Given the description of an element on the screen output the (x, y) to click on. 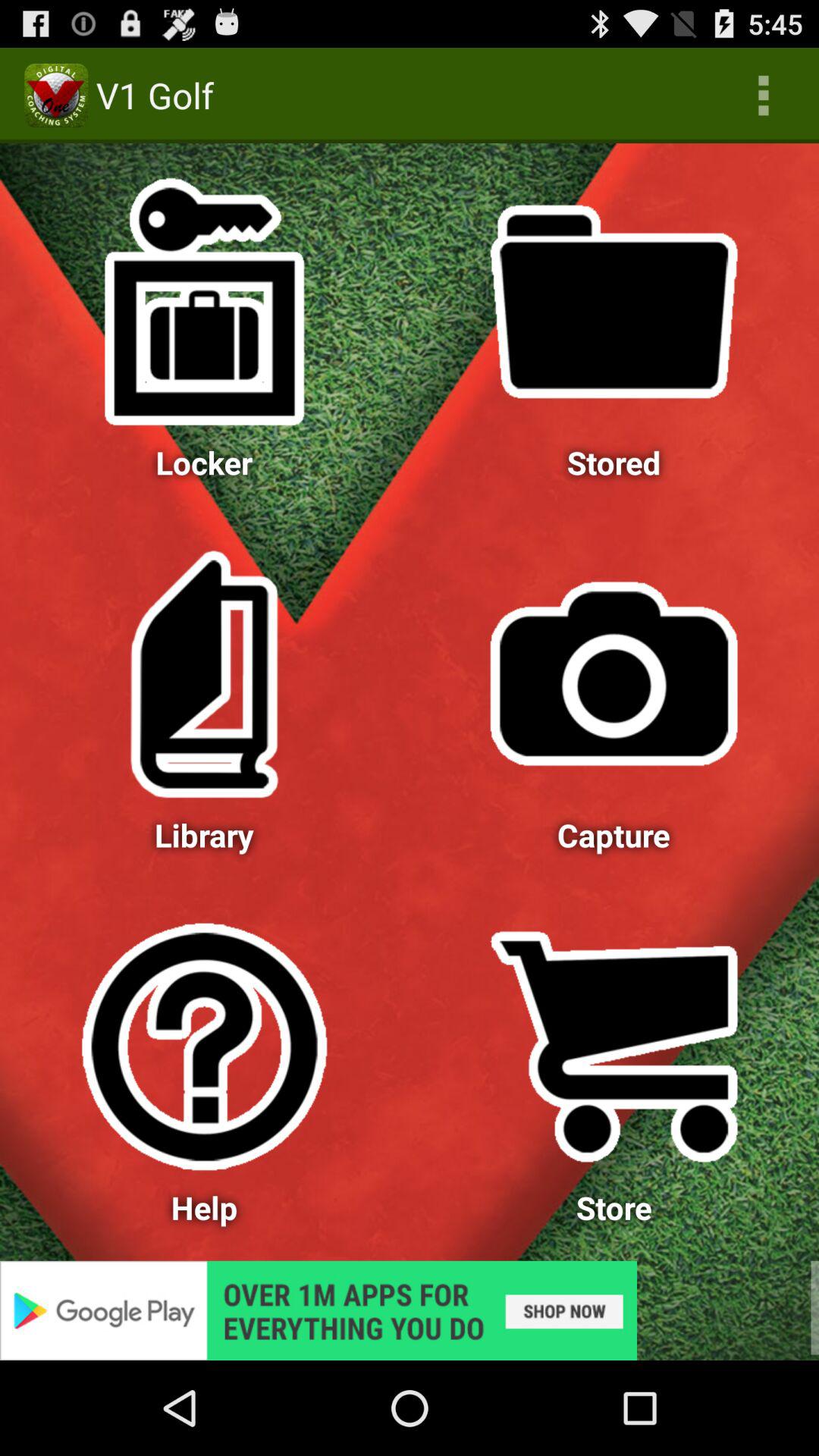
go to advertisement (409, 1310)
